Given the description of an element on the screen output the (x, y) to click on. 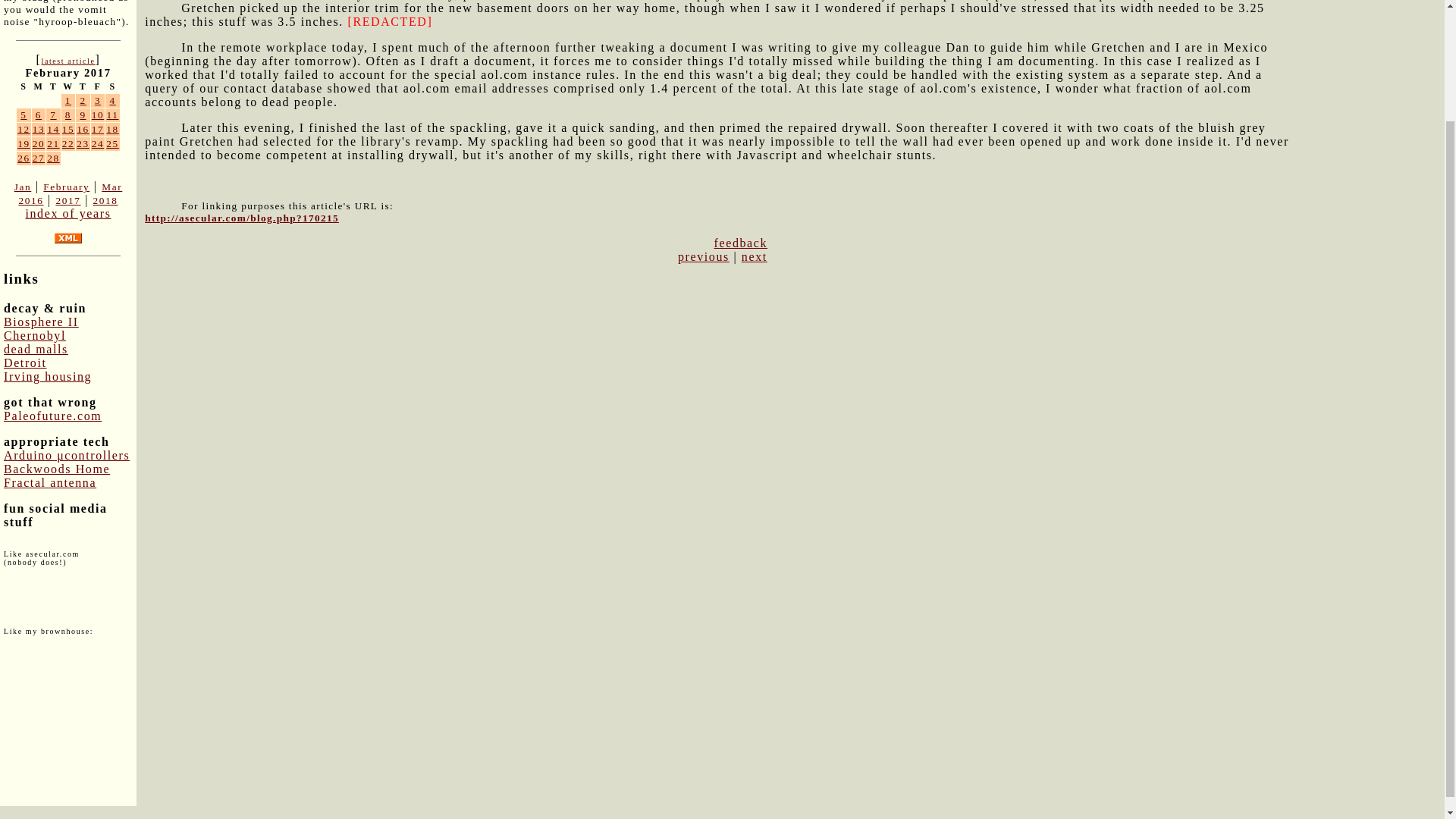
24 (97, 143)
17 (97, 129)
15 (68, 129)
23 (82, 143)
February (65, 186)
18 (112, 129)
16 (82, 129)
19 (23, 143)
2018 (105, 200)
dead malls (36, 349)
